Given the description of an element on the screen output the (x, y) to click on. 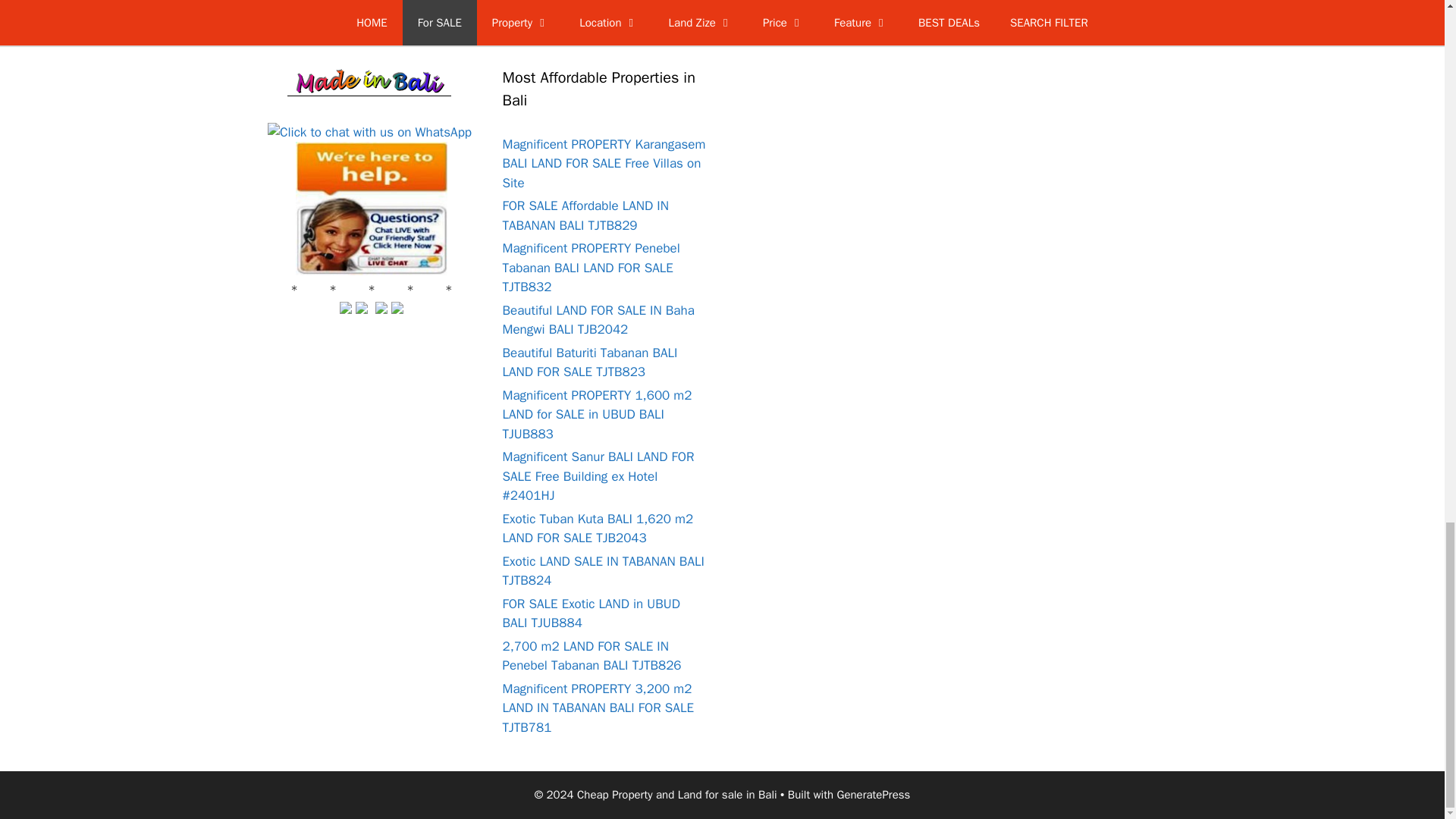
Scroll back to top (1406, 73)
